Given the description of an element on the screen output the (x, y) to click on. 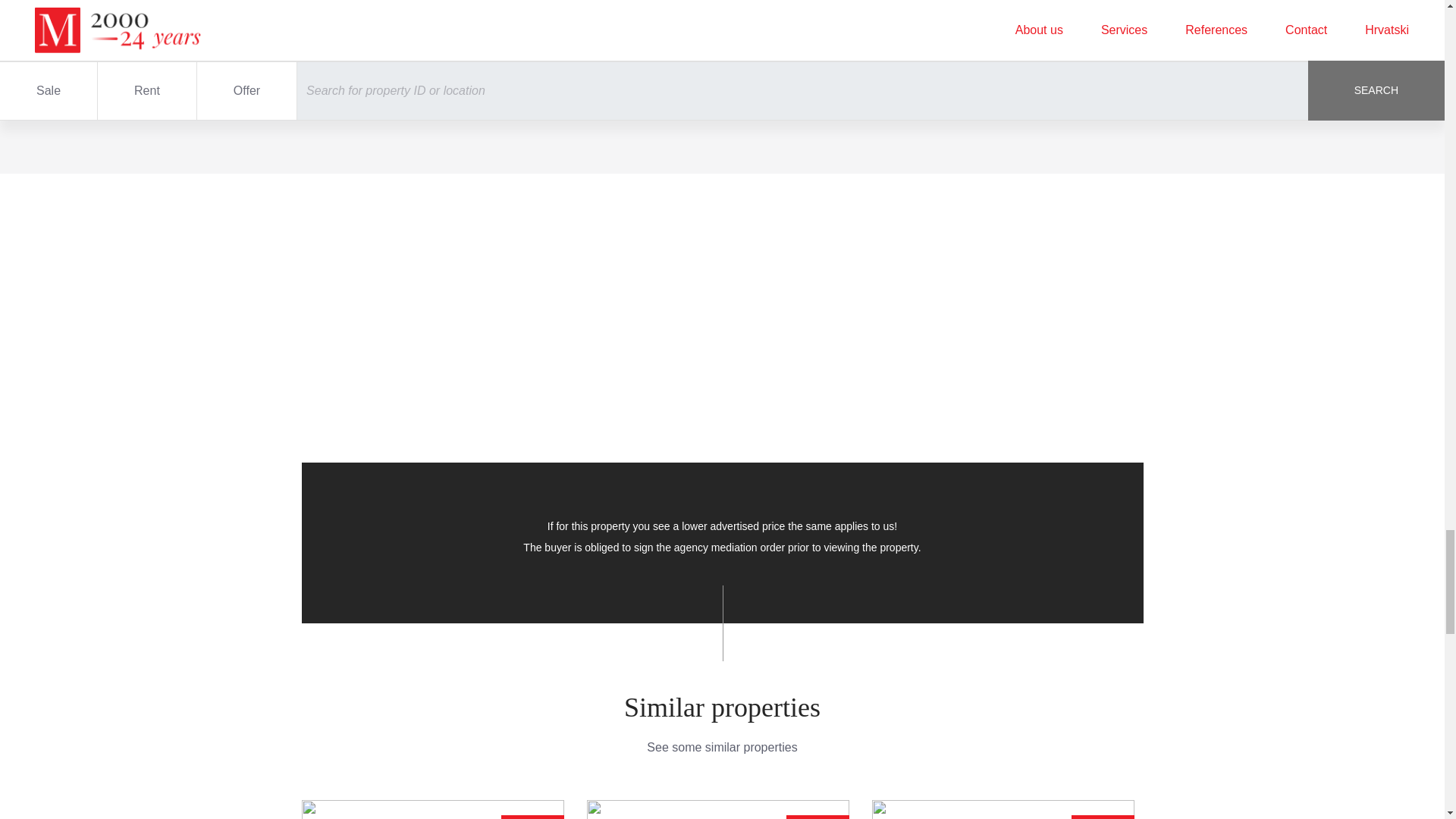
20y (830, 60)
